Given the description of an element on the screen output the (x, y) to click on. 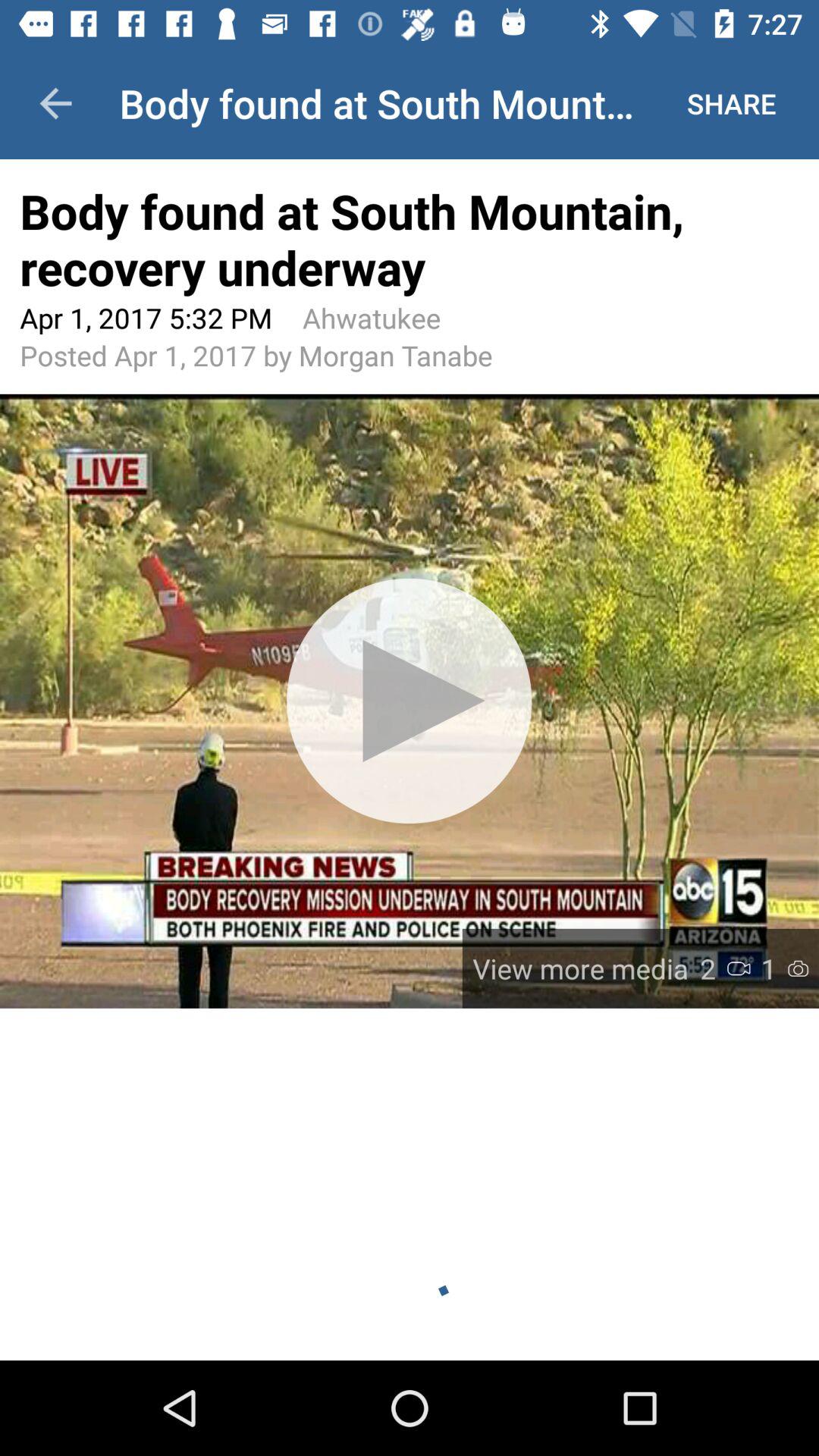
turn on the icon above body found at icon (731, 103)
